Given the description of an element on the screen output the (x, y) to click on. 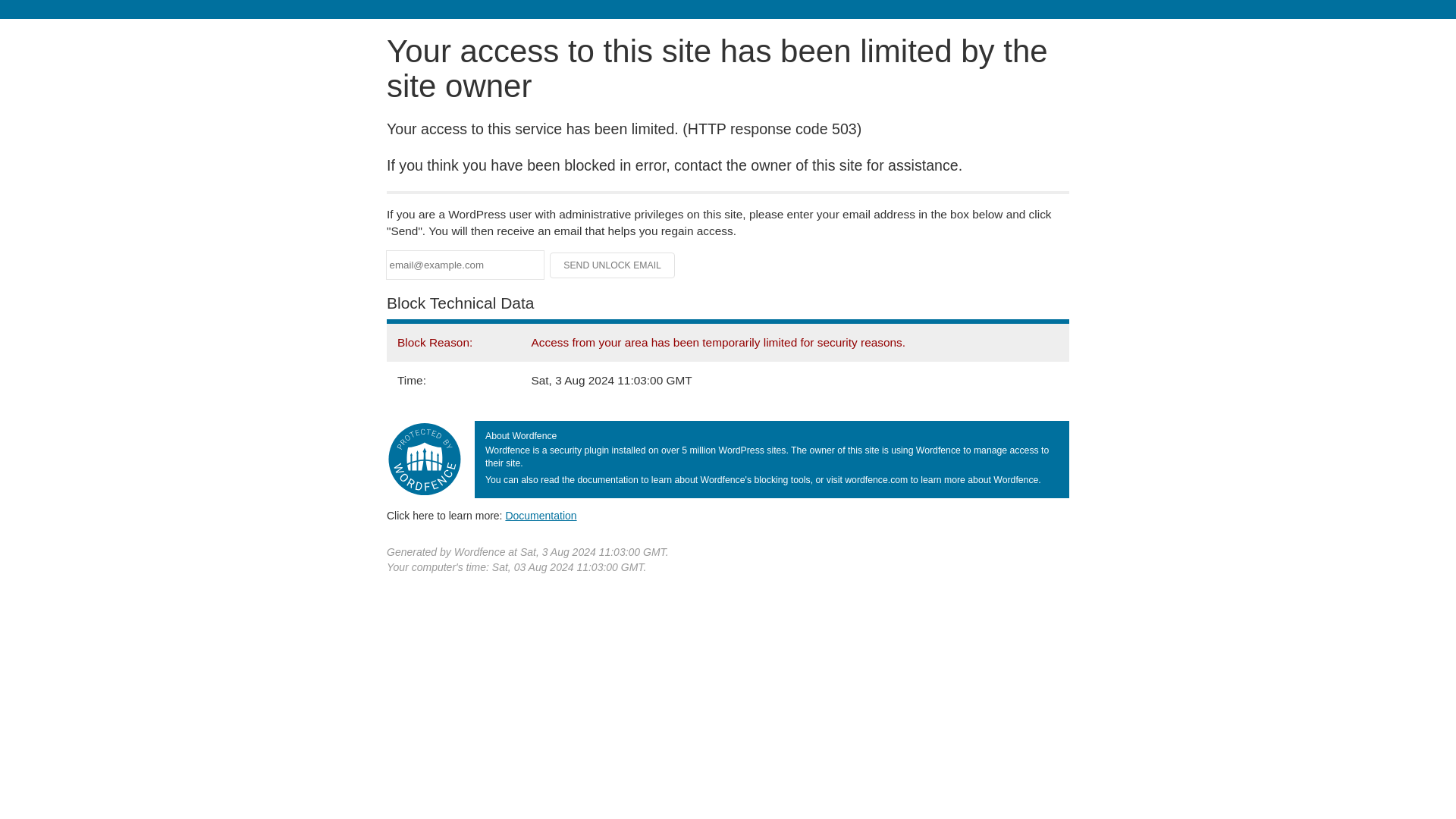
Send Unlock Email (612, 265)
Documentation (540, 515)
Send Unlock Email (612, 265)
